Given the description of an element on the screen output the (x, y) to click on. 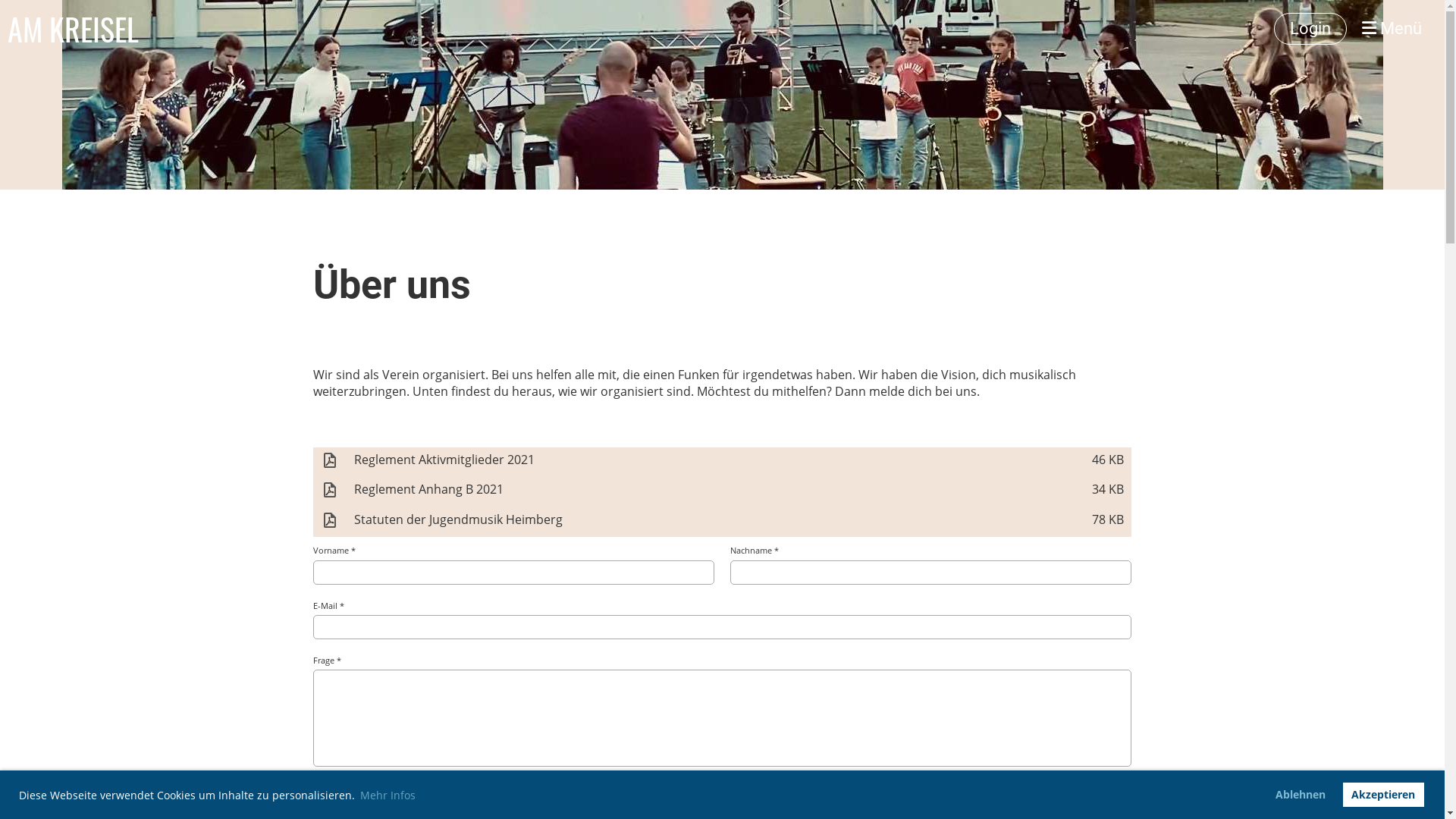
Ablehnen Element type: text (1300, 794)
Absenden Element type: text (1078, 800)
Akzeptieren Element type: text (1383, 794)
Login Element type: text (1310, 28)
AM KREISEL Element type: text (72, 28)
Mehr Infos Element type: text (387, 794)
Statuten der Jugendmusik Heimberg 78 KB Element type: text (721, 521)
Reglement Anhang B 2021 34 KB Element type: text (721, 491)
Reglement Aktivmitglieder 2021 46 KB Element type: text (721, 461)
